Given the description of an element on the screen output the (x, y) to click on. 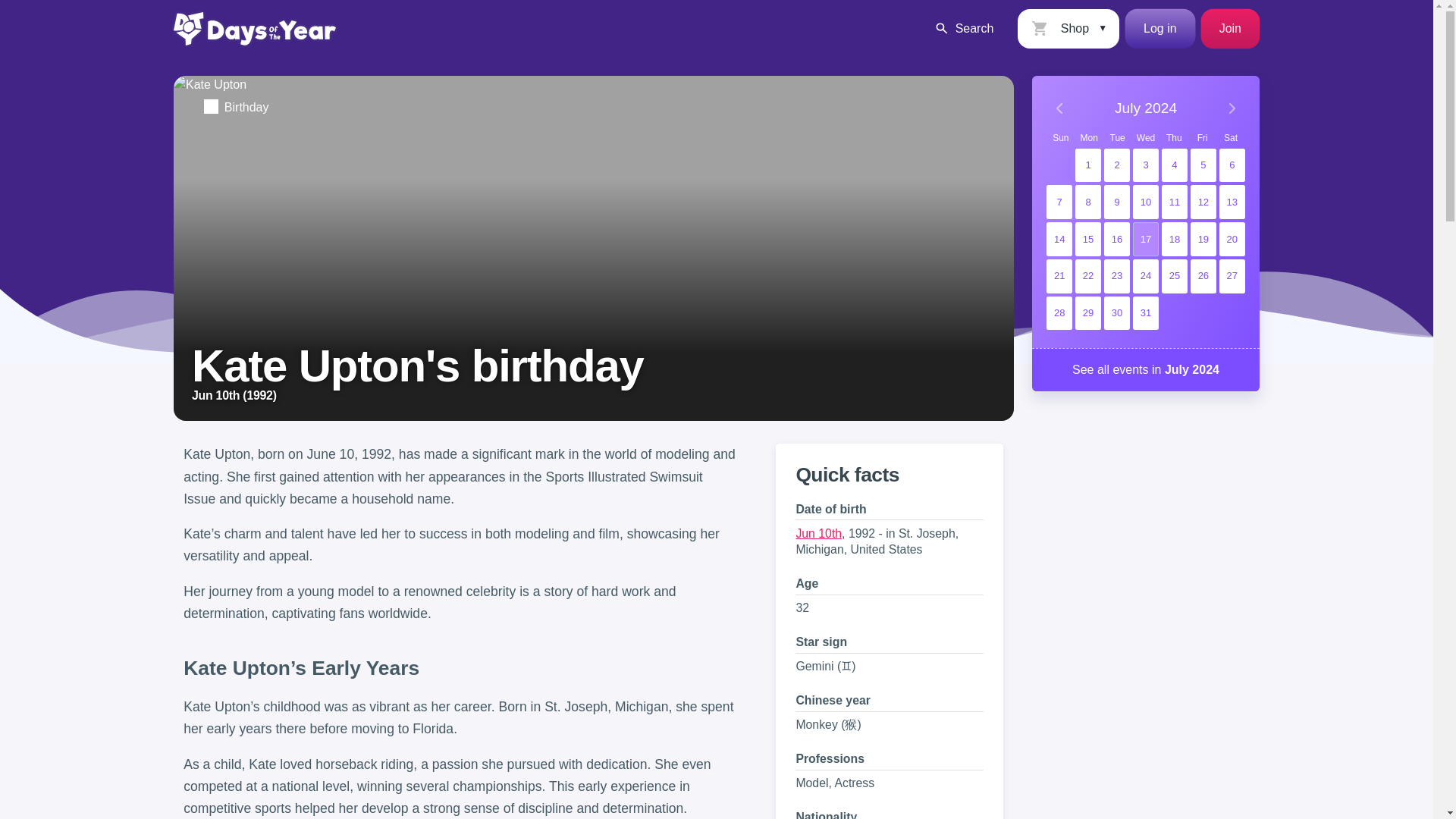
Jun 10th (817, 533)
Join (1230, 28)
Log in (1160, 28)
Search (963, 28)
